Given the description of an element on the screen output the (x, y) to click on. 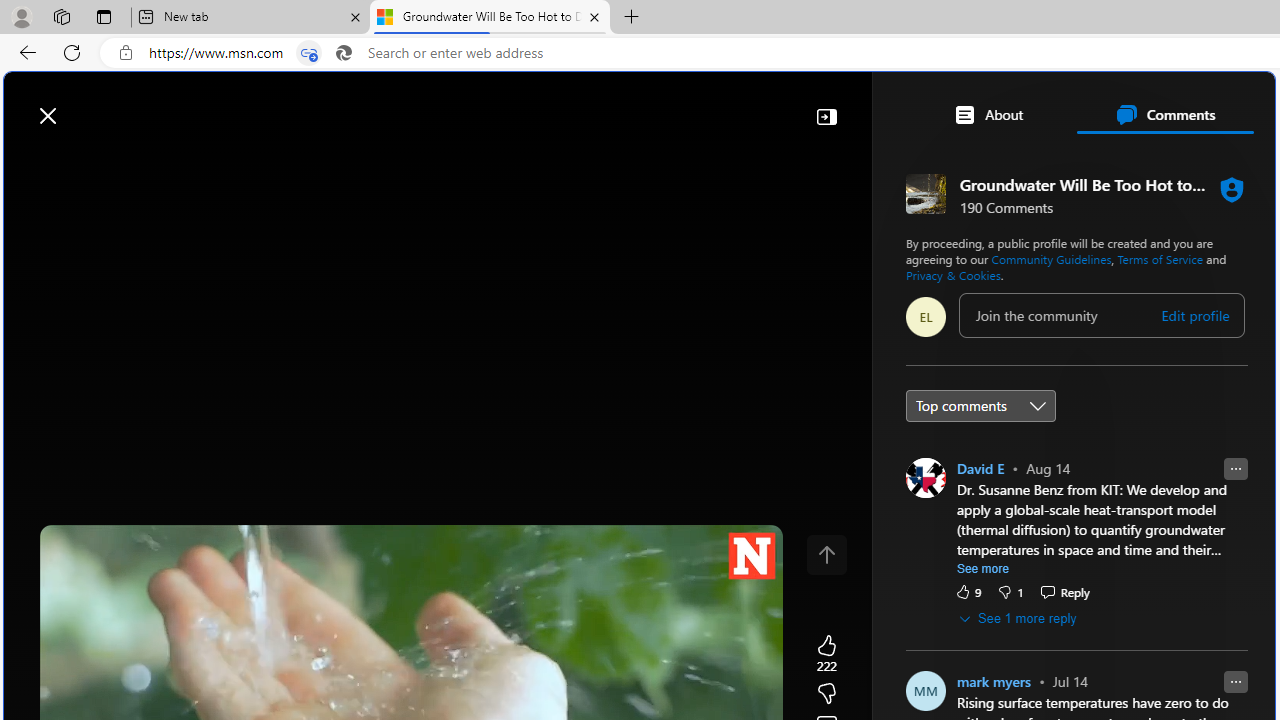
Reply Reply Comment (1064, 591)
Nordace.com (1016, 439)
Collapse (826, 115)
ABC News (974, 557)
David E (980, 467)
Open settings (1230, 105)
Class: button-glyph (29, 162)
Web search (283, 105)
Report comment (1235, 681)
mark myers (993, 681)
The Associated Press (974, 645)
